Given the description of an element on the screen output the (x, y) to click on. 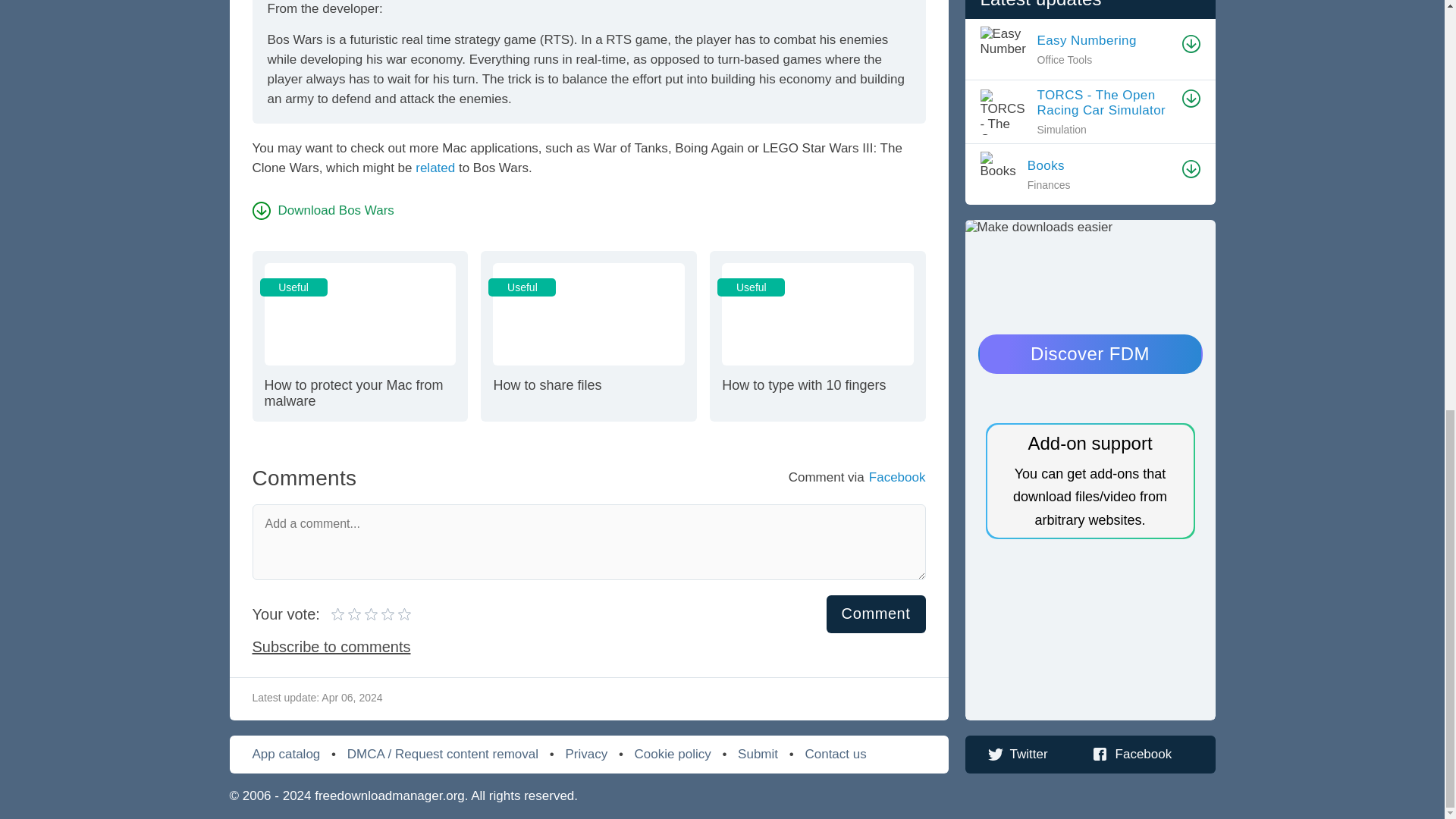
1 (338, 613)
related (434, 167)
Comment (876, 613)
2 (359, 335)
5 (346, 613)
Download Bos Wars (370, 613)
4 (587, 335)
3 (322, 210)
